Given the description of an element on the screen output the (x, y) to click on. 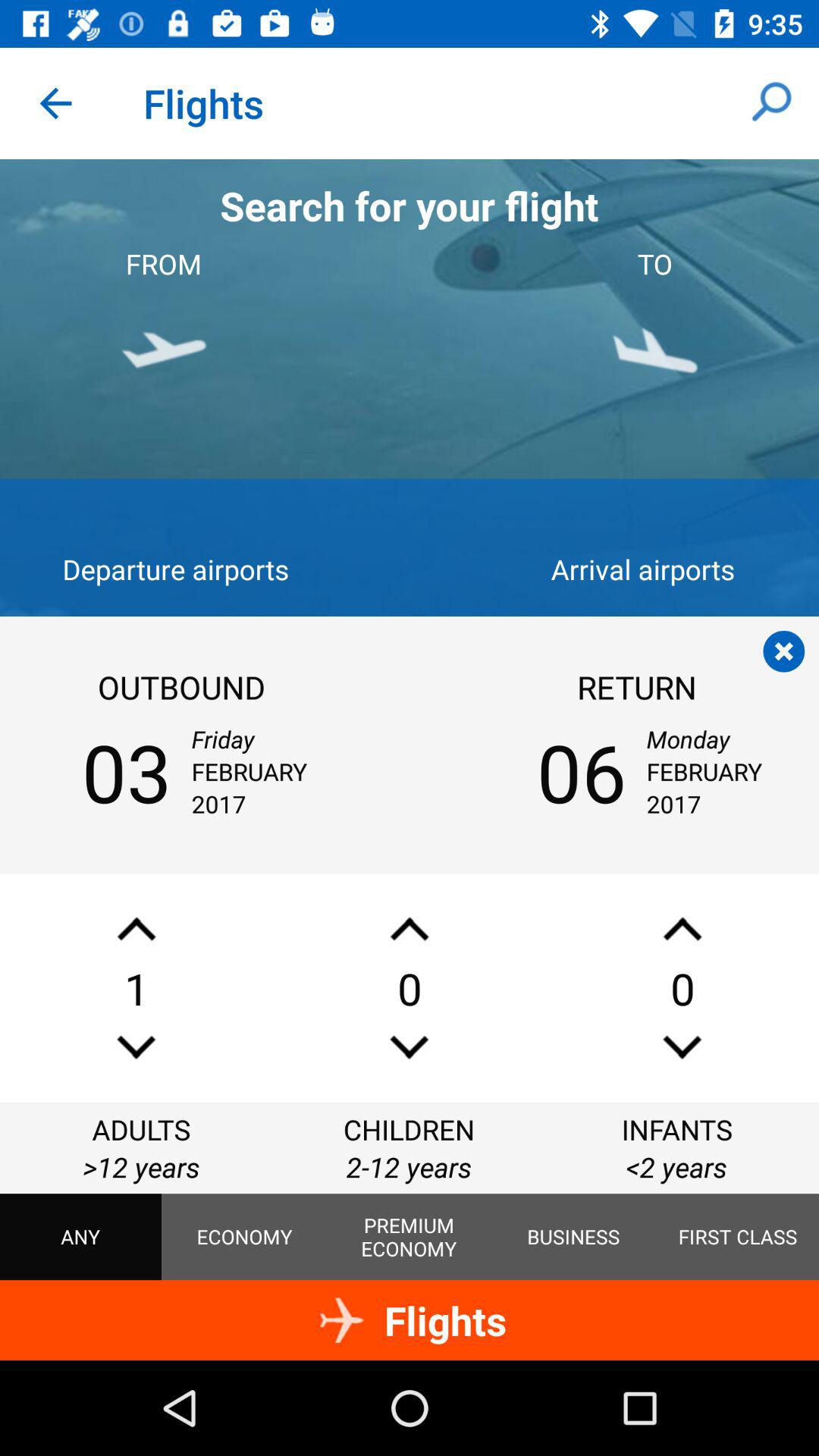
open item next to flights app (55, 103)
